Given the description of an element on the screen output the (x, y) to click on. 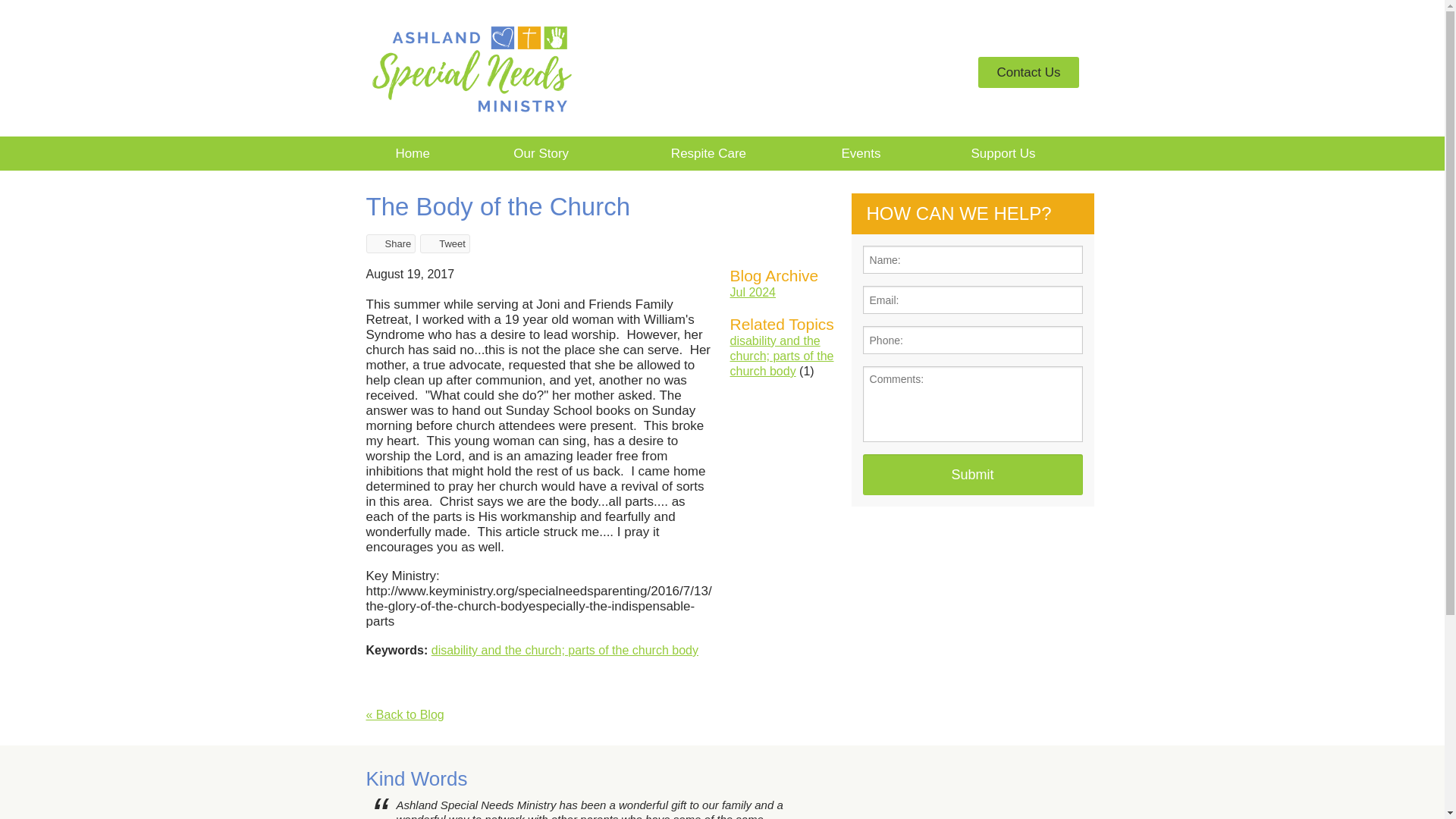
Our Story (541, 153)
Contact Us (1028, 69)
Respite Care (708, 153)
Submit (973, 474)
Home (411, 153)
Events (861, 153)
